Given the description of an element on the screen output the (x, y) to click on. 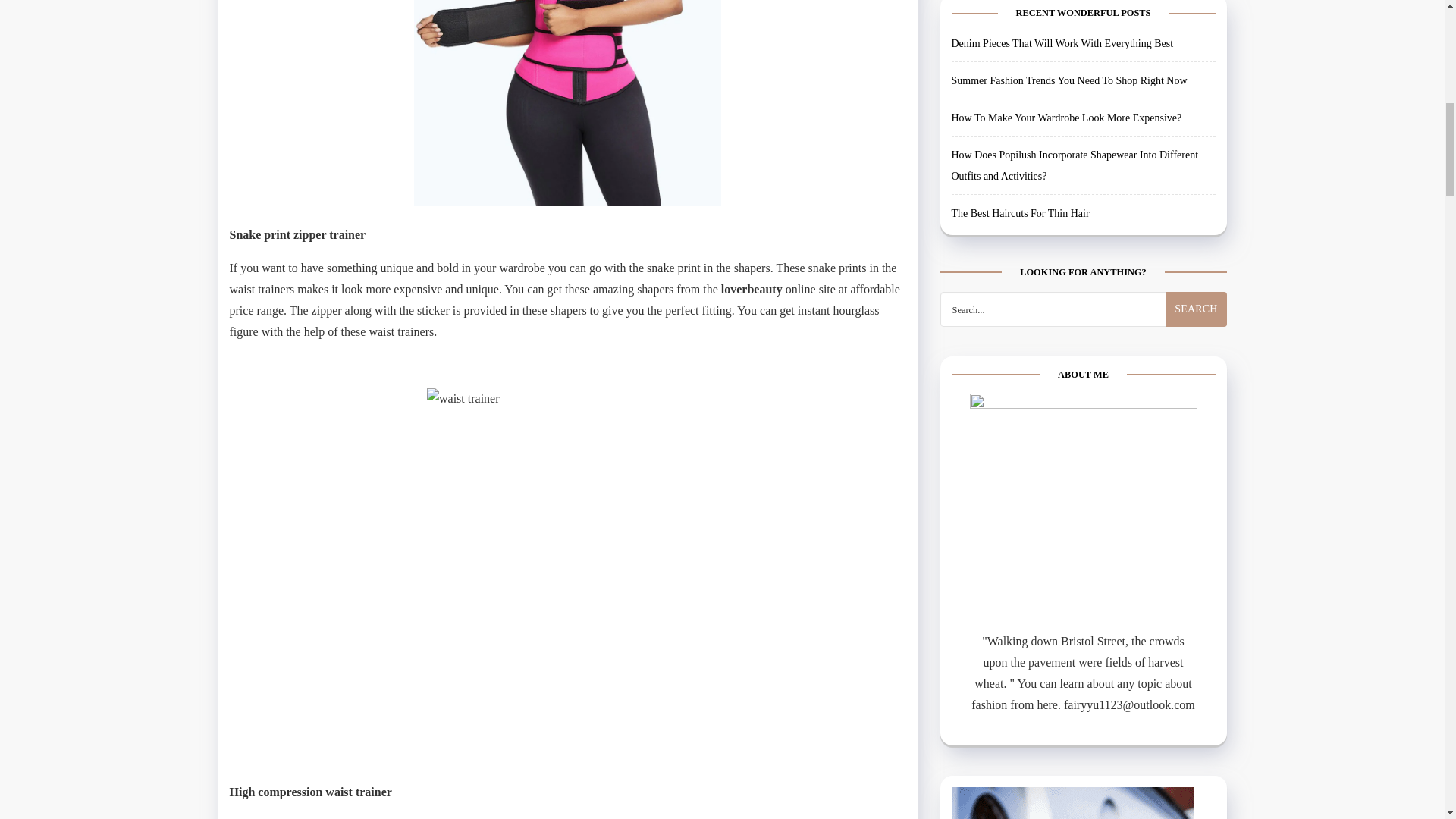
Search (1195, 290)
Summer Fashion Trends You Need To Shop Right Now  (1069, 61)
Search (1195, 290)
Denim Pieces That Will Work With Everything Best (1061, 25)
ABOUT ME (1082, 488)
